Given the description of an element on the screen output the (x, y) to click on. 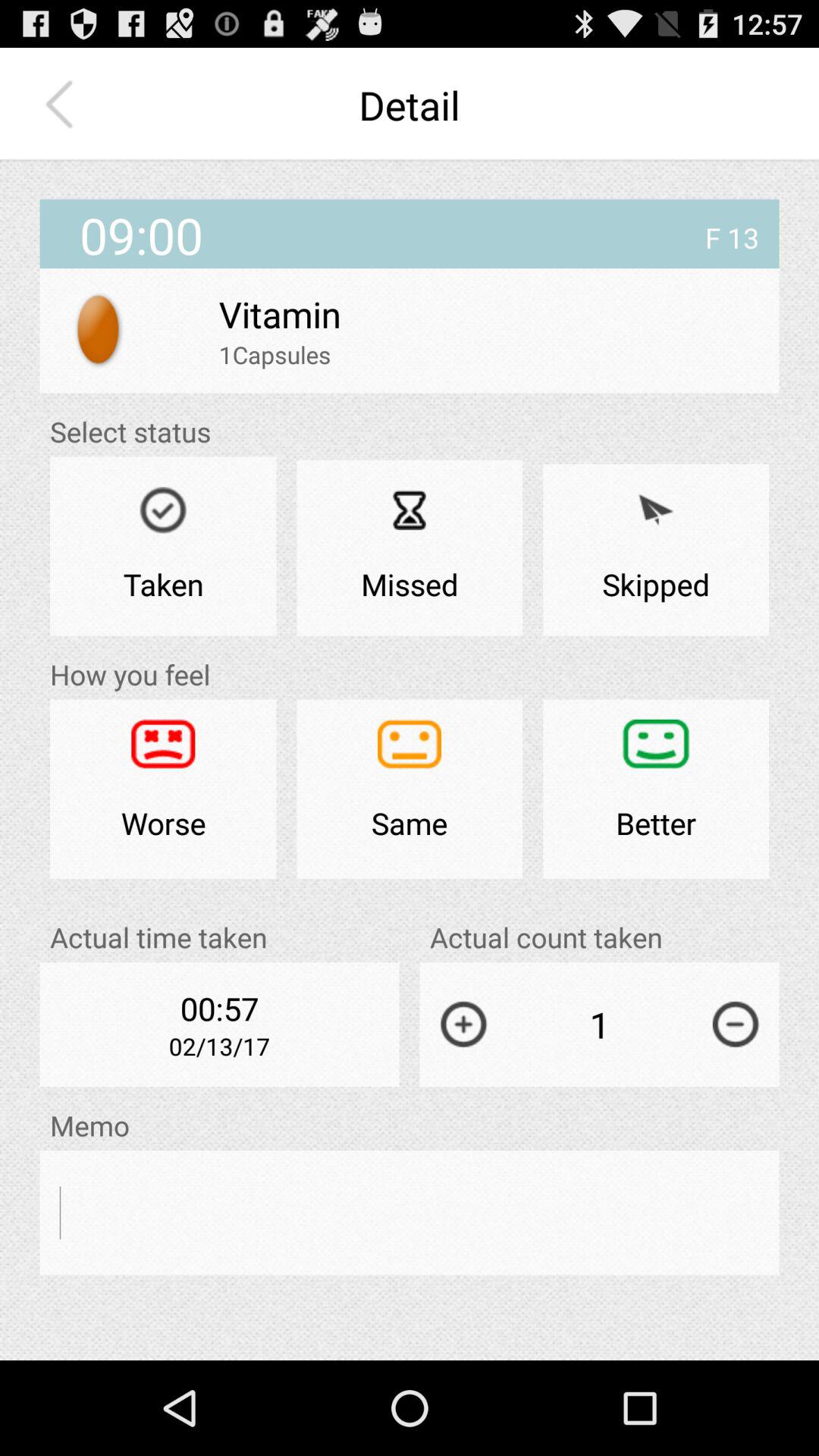
press the app below the actual count taken item (735, 1024)
